Given the description of an element on the screen output the (x, y) to click on. 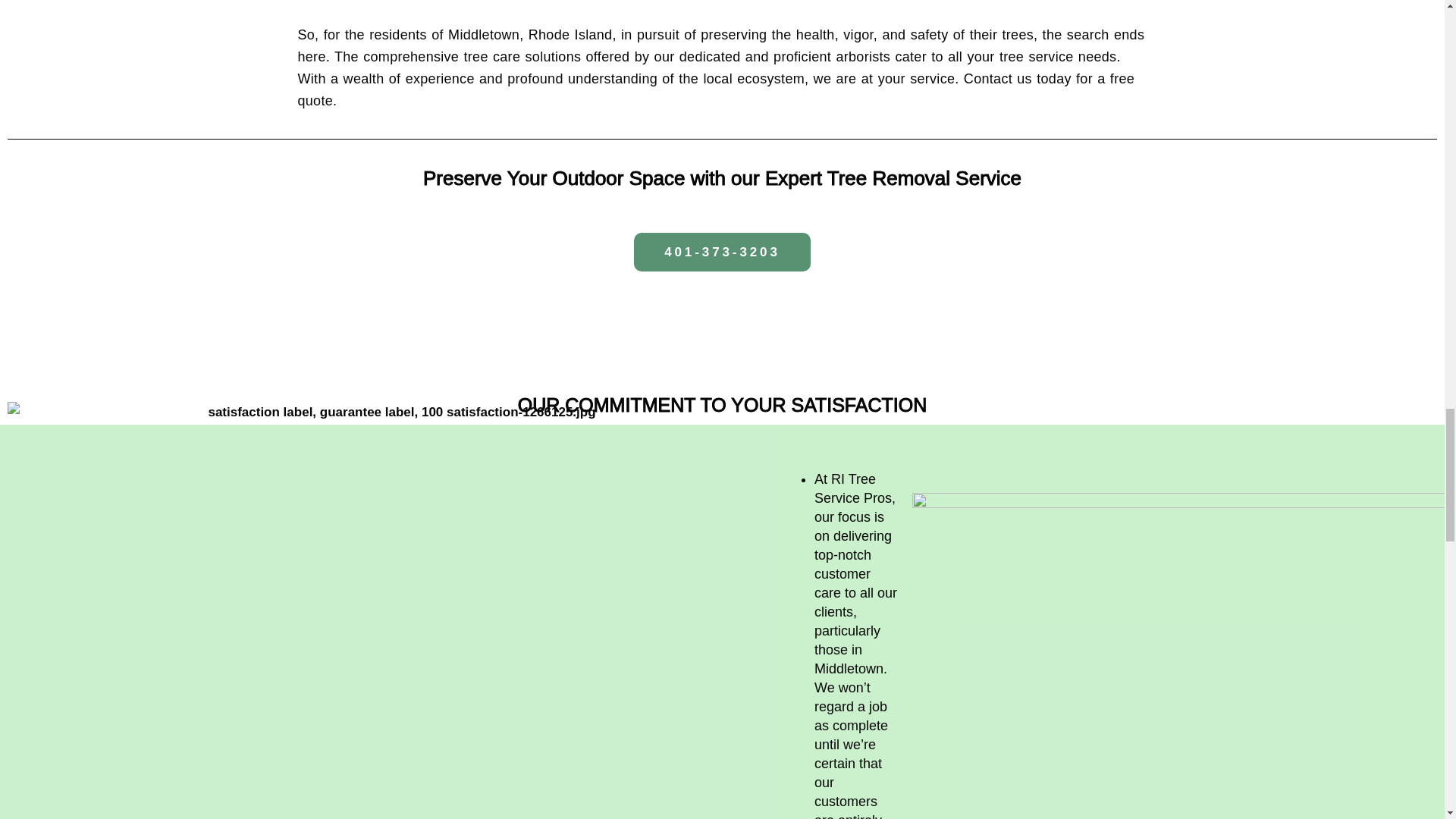
401-373-3203 (721, 251)
